Given the description of an element on the screen output the (x, y) to click on. 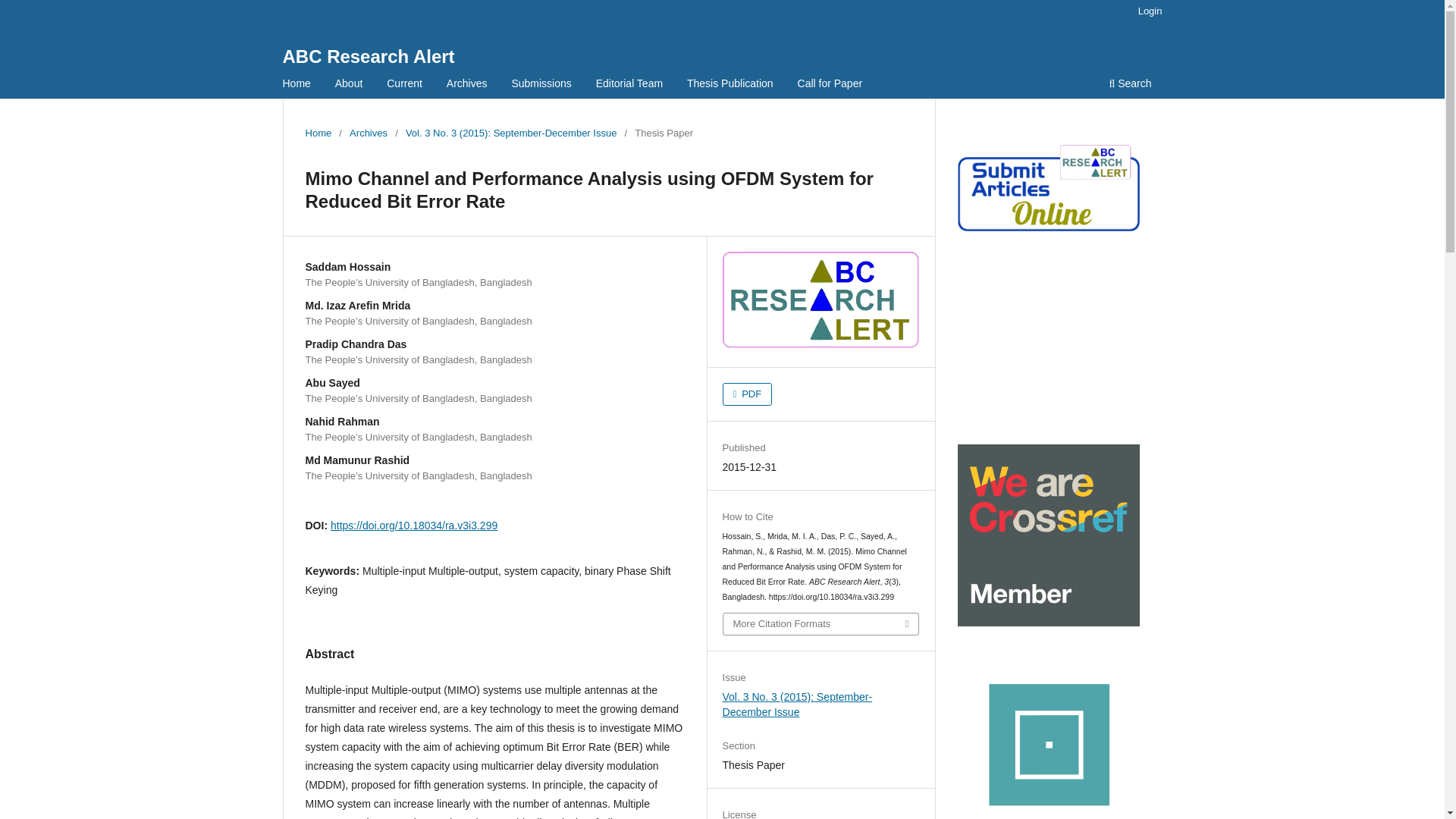
Submissions (540, 85)
More Citation Formats (820, 623)
Home (317, 133)
Thesis Publication (729, 85)
Call for Paper (829, 85)
ABC Research Alert (368, 56)
PDF (747, 394)
Login (1150, 11)
About (349, 85)
Editorial Team (629, 85)
